Given the description of an element on the screen output the (x, y) to click on. 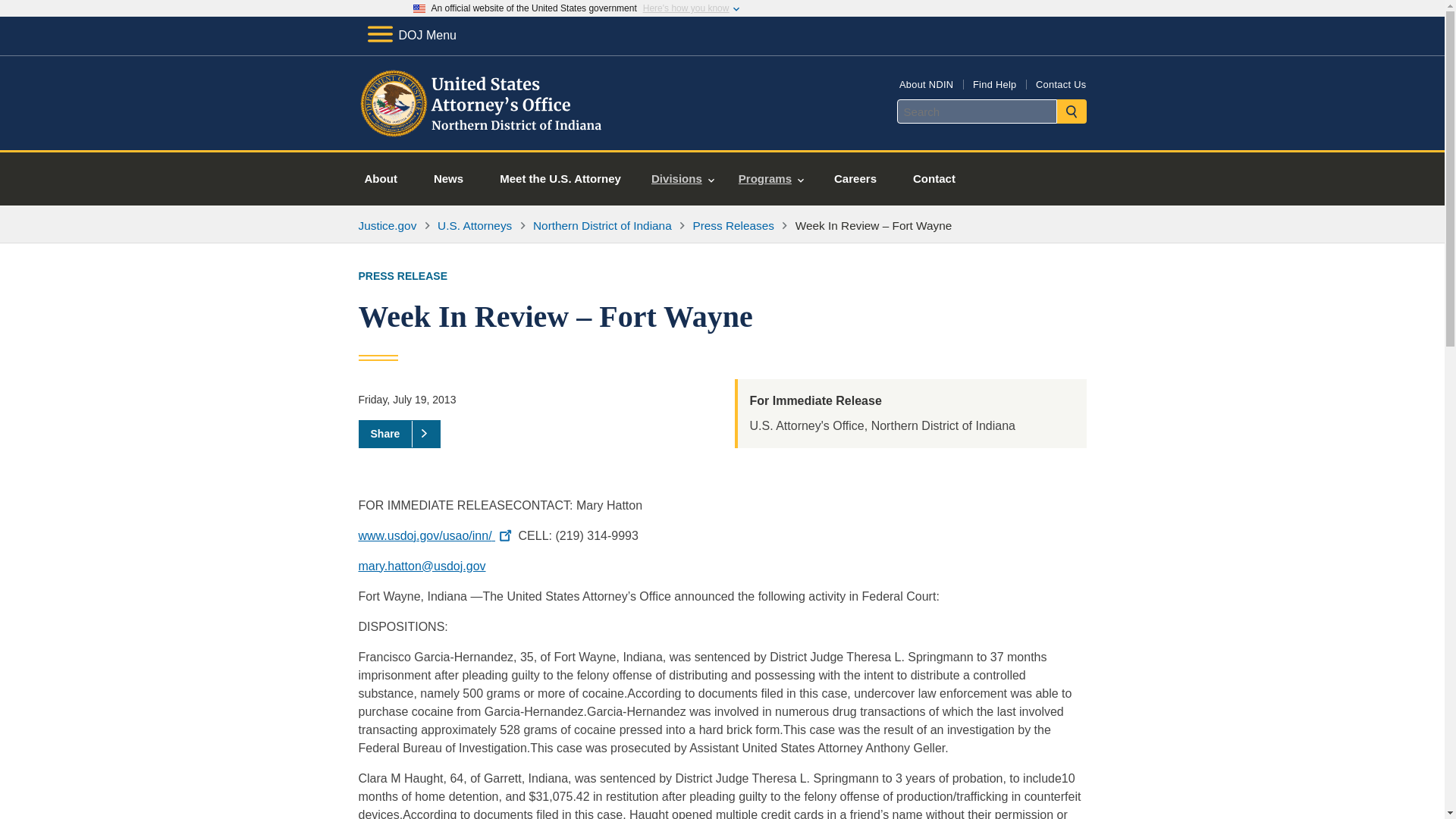
Meet the U.S. Attorney (560, 179)
Careers (855, 179)
Programs (770, 179)
Divisions (682, 179)
DOJ Menu (411, 35)
Find Help (994, 84)
News (447, 179)
About (380, 179)
Share (398, 433)
Contact Us (1060, 84)
